Given the description of an element on the screen output the (x, y) to click on. 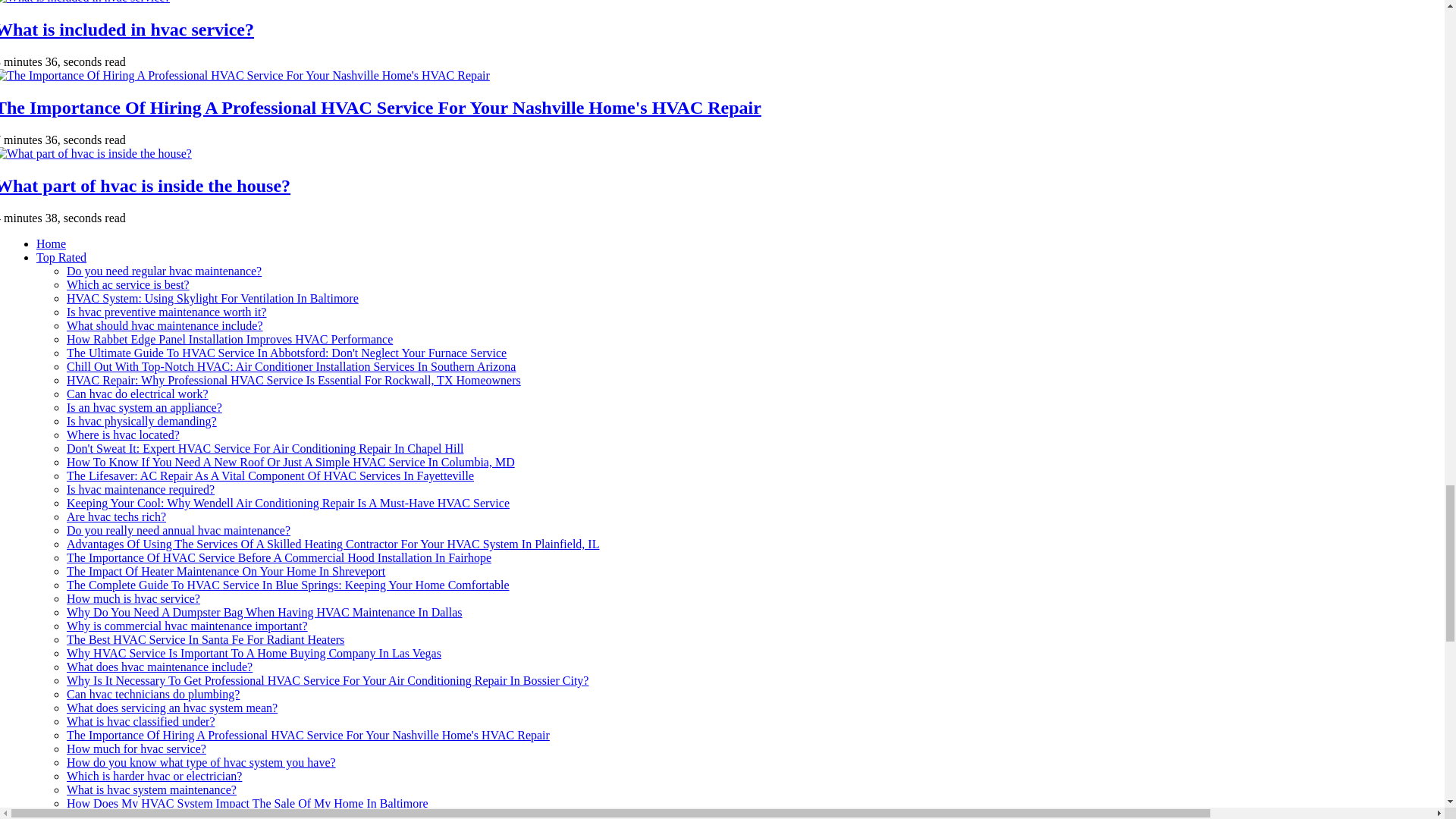
What is included in hvac service? (126, 29)
Is hvac preventive maintenance worth it? (166, 311)
Top Rated (60, 256)
Which ac service is best? (127, 284)
Where is hvac located? (122, 434)
Is hvac maintenance required? (140, 489)
Do you need regular hvac maintenance? (164, 270)
How Rabbet Edge Panel Installation Improves HVAC Performance (229, 338)
